Given the description of an element on the screen output the (x, y) to click on. 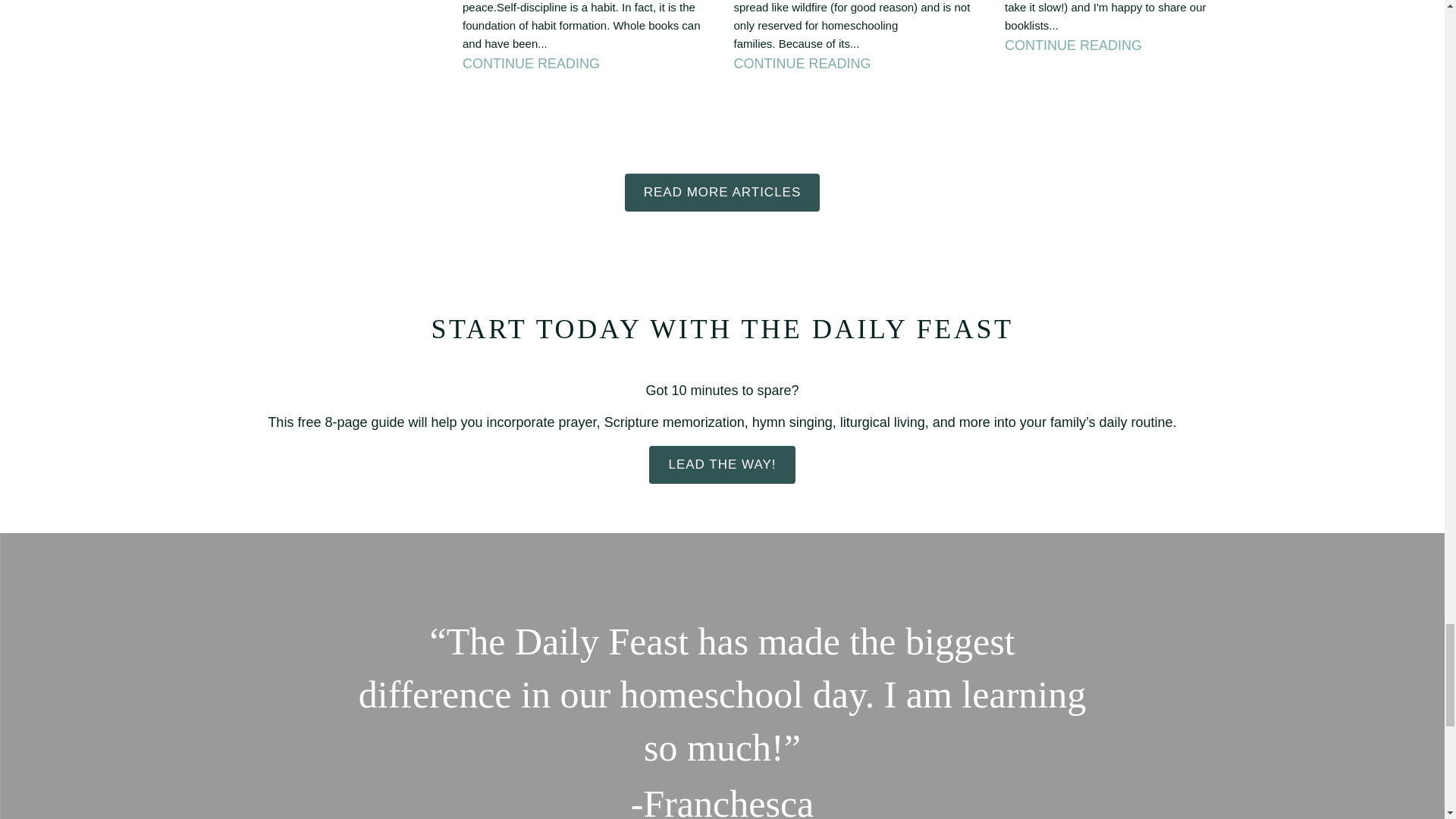
Blog (722, 192)
An Introduction to the Daily Feast (721, 464)
